Given the description of an element on the screen output the (x, y) to click on. 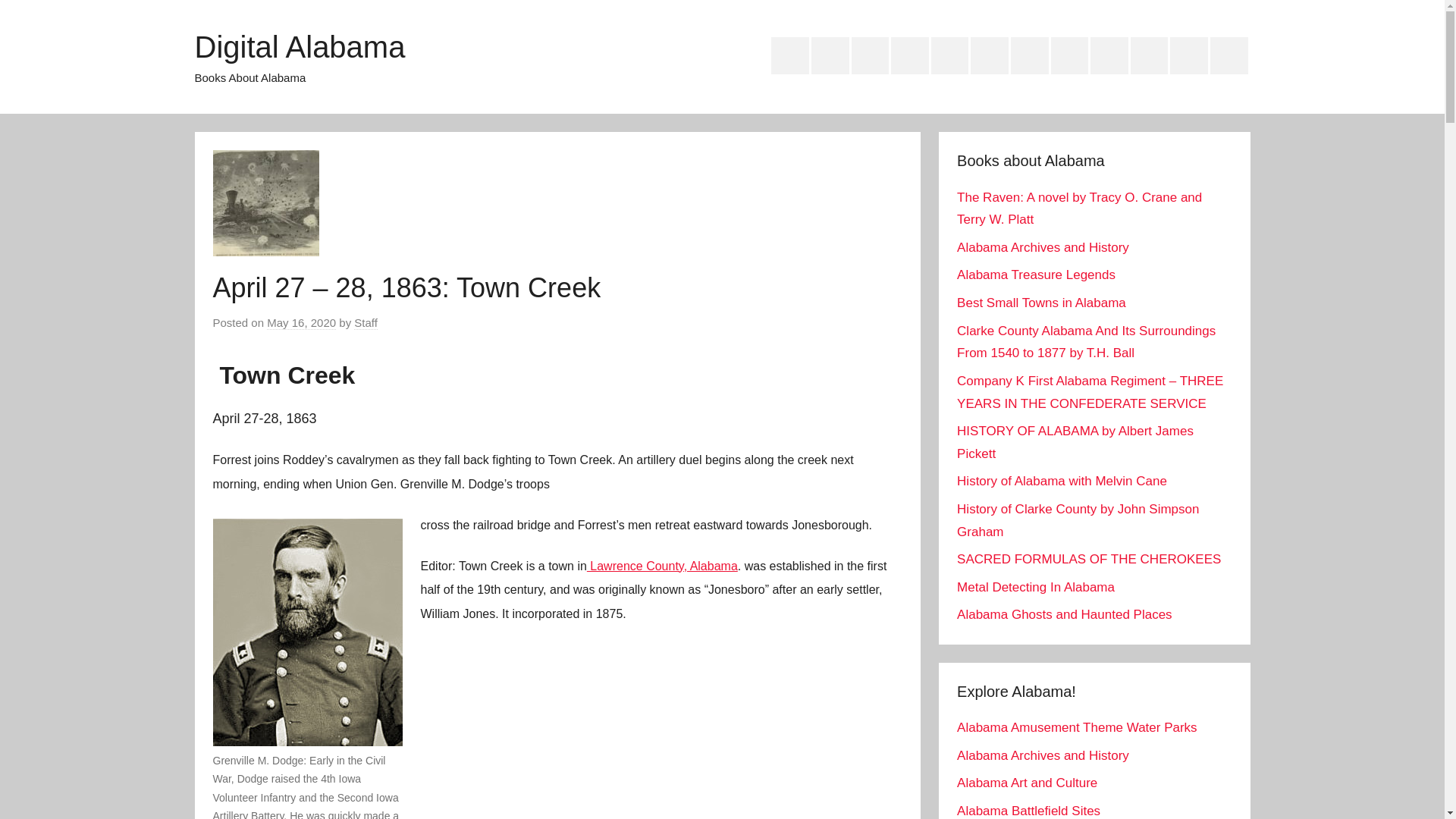
History of Alabama with Melvin Cane (1070, 55)
Digital Alabama (298, 46)
SACRED FORMULAS OF THE CHEROKEES (1088, 559)
May 16, 2020 (301, 323)
Alabama Art and Culture (1026, 782)
Staff (365, 323)
The Raven: A novel by Tracy O. Crane and Terry W. Platt (1079, 208)
History of Clarke County by John Simpson Graham (1077, 520)
View all posts by Staff (365, 323)
The Raven: A novel by Tracy O. Crane and Terry W. Platt (790, 55)
